Given the description of an element on the screen output the (x, y) to click on. 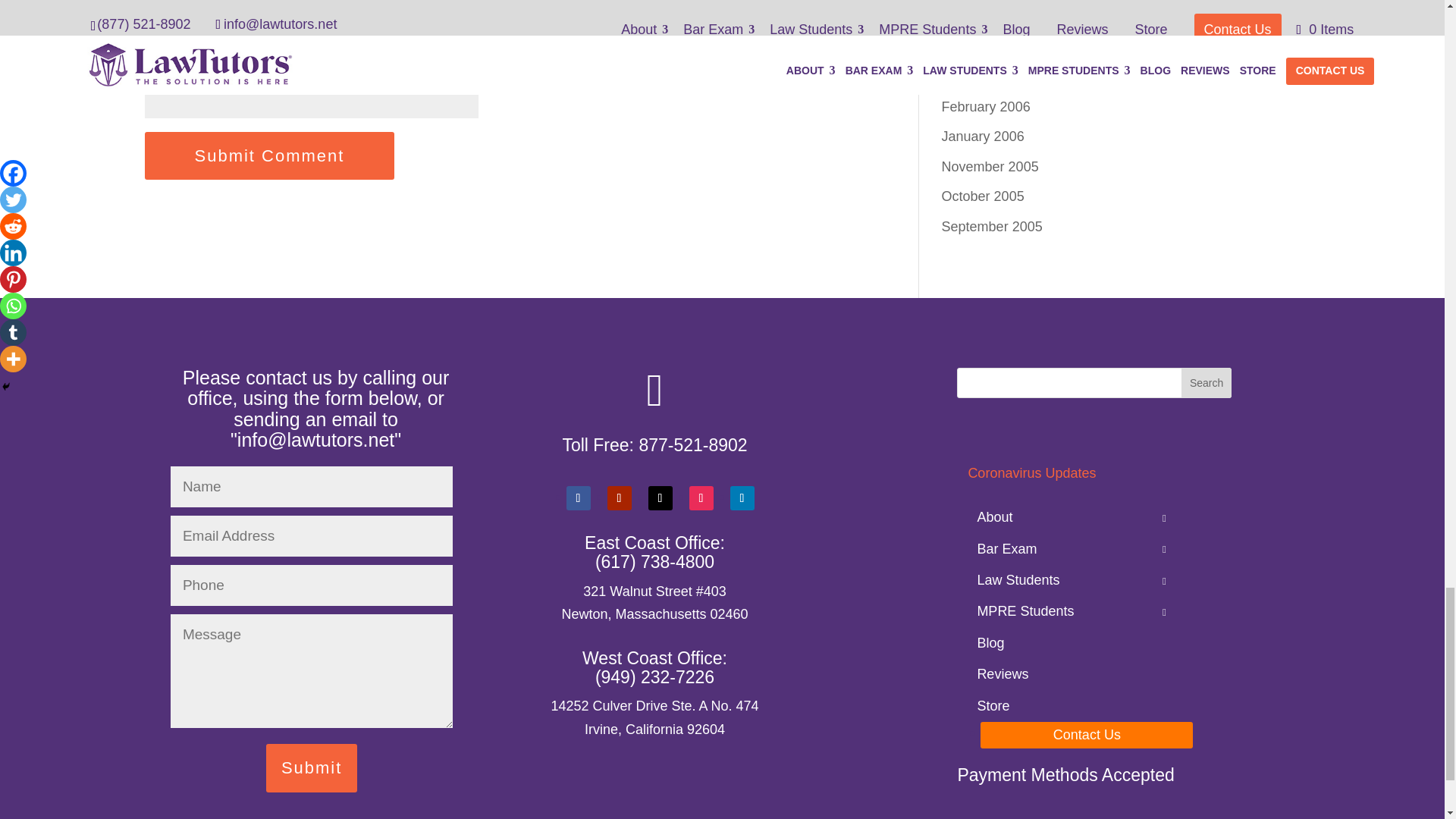
Search (1205, 382)
Submit Comment (269, 155)
